Given the description of an element on the screen output the (x, y) to click on. 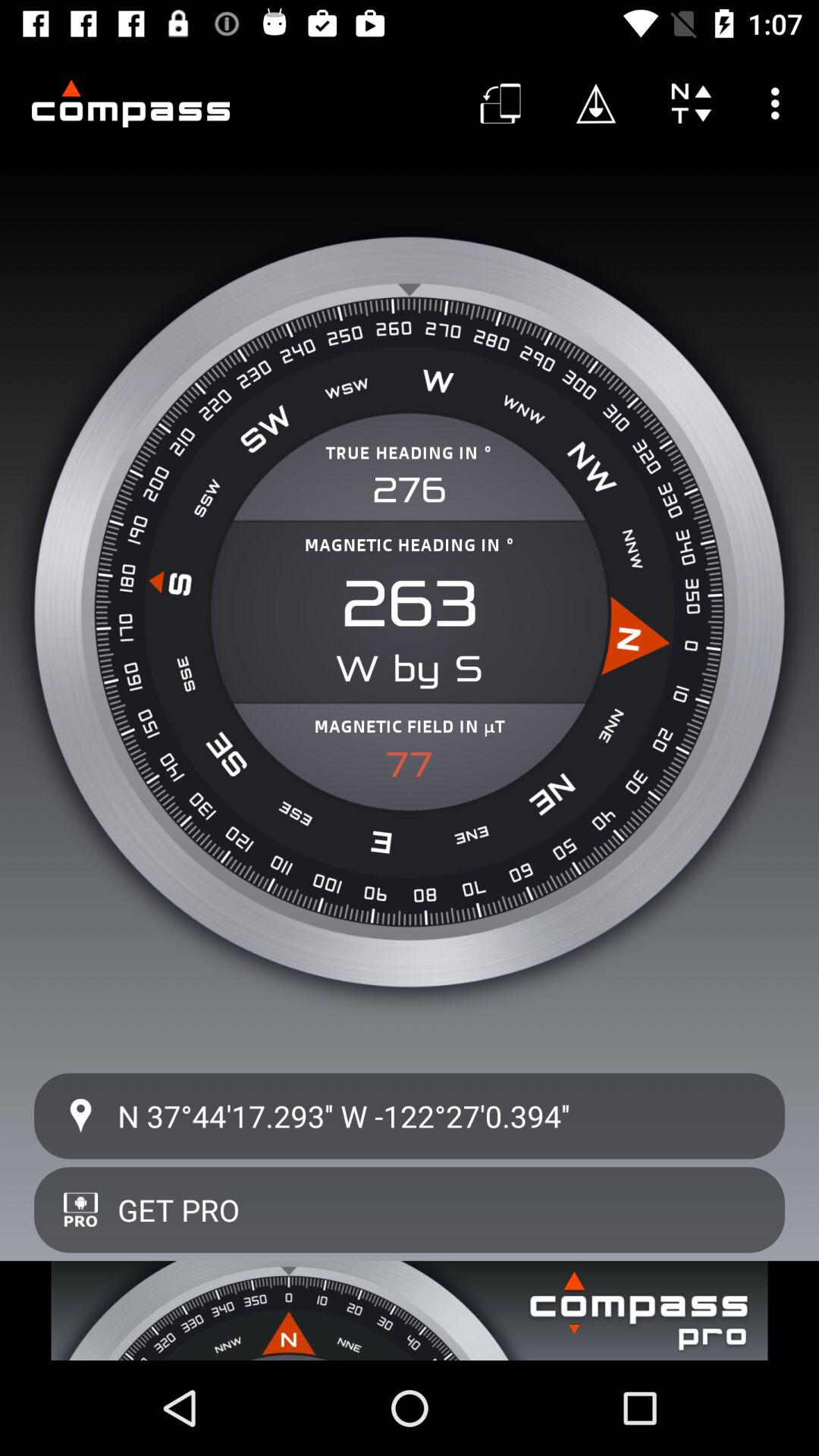
advertisement that opens company 's website (409, 1310)
